Given the description of an element on the screen output the (x, y) to click on. 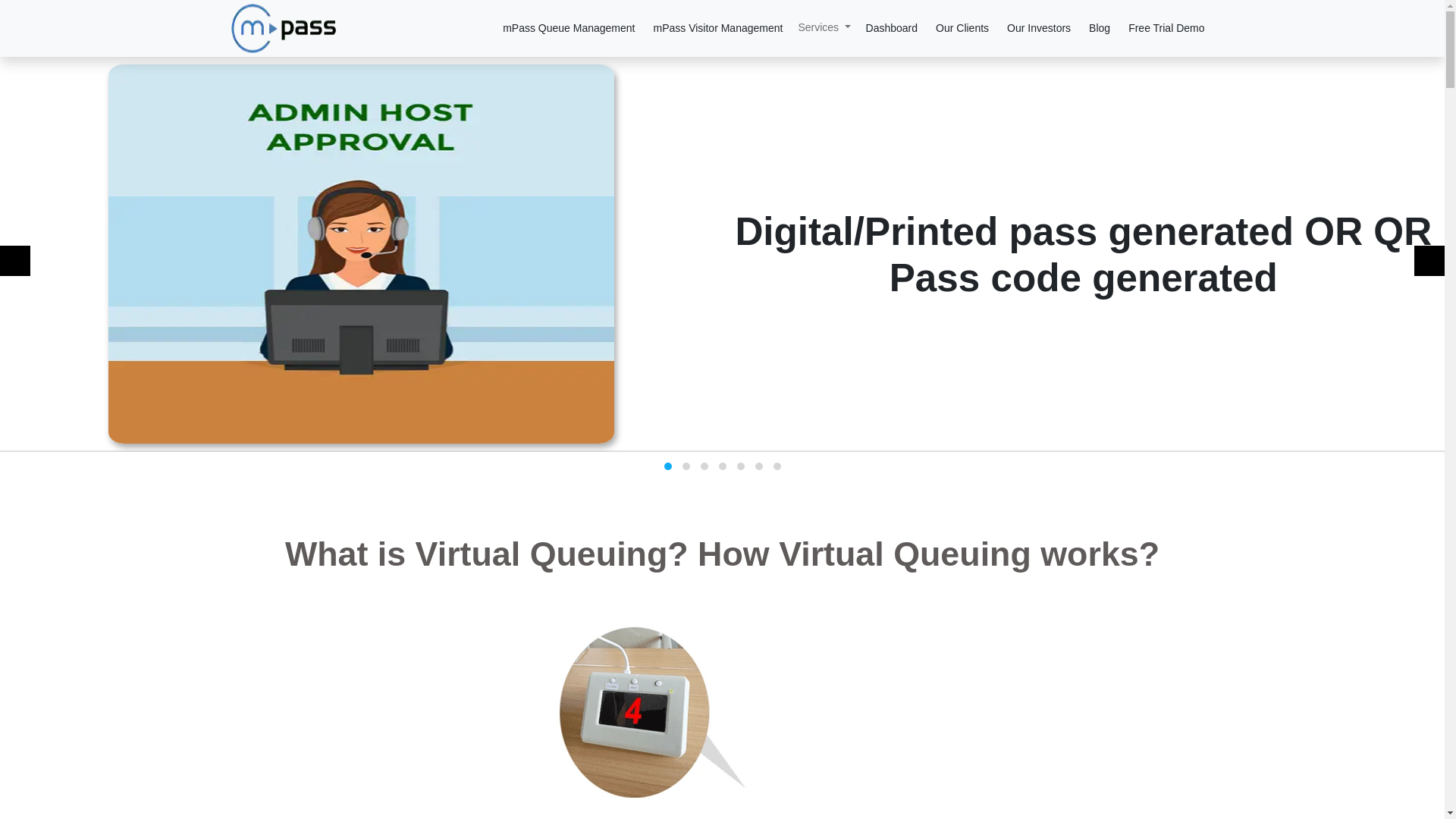
Blog (1099, 28)
mPass Queue Management (568, 28)
Blog (1099, 28)
Free Trial Demo (1165, 28)
Our Clients (961, 28)
Dashboard (892, 28)
Our Investors (1038, 28)
Our Investors (1038, 28)
Our Clients (961, 28)
mPass Visitor Management (717, 28)
